Given the description of an element on the screen output the (x, y) to click on. 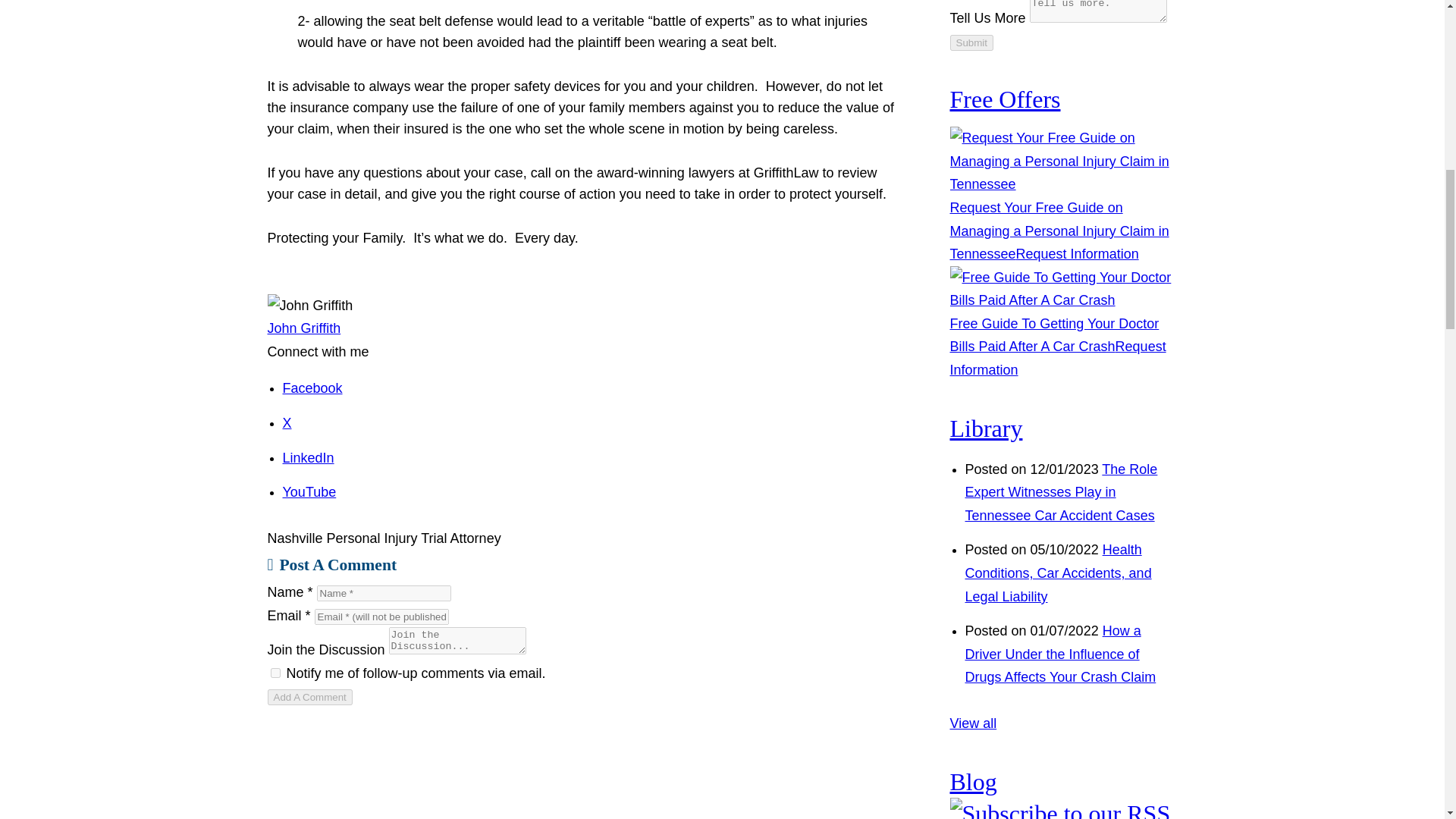
Find me on Facebook (312, 387)
Connect with me on LinkedIn (307, 458)
Facebook (312, 387)
Watch me on YouTube (309, 491)
LinkedIn (307, 458)
John Griffith (303, 328)
Add A Comment (309, 697)
YouTube (309, 491)
1 (274, 673)
